Given the description of an element on the screen output the (x, y) to click on. 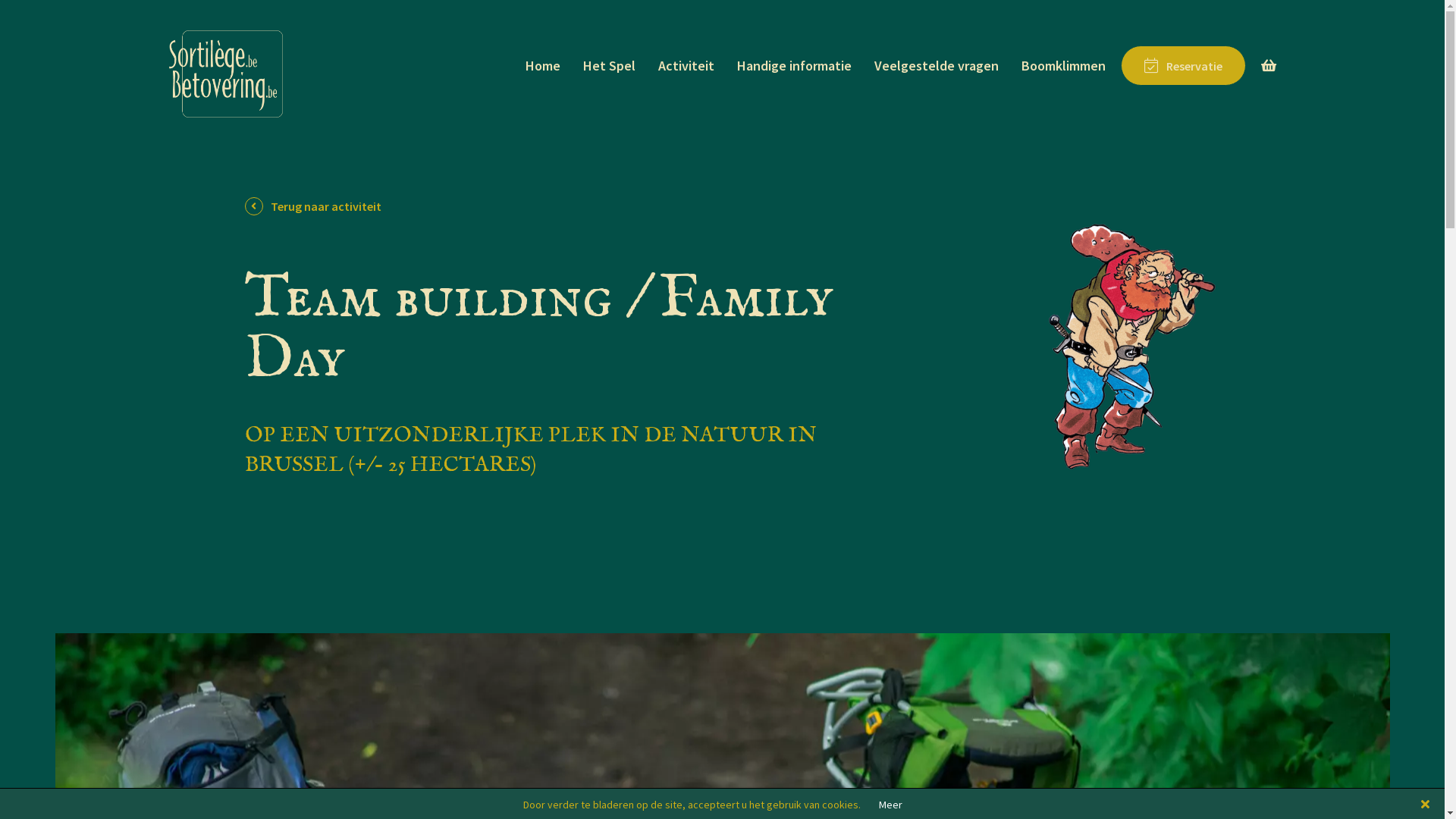
Boomklimmen Element type: text (1062, 65)
Home Element type: text (541, 65)
Reservatie Element type: text (1182, 65)
Veelgestelde vragen Element type: text (935, 65)
Bekijk je winkelwagen Element type: hover (1267, 65)
Activiteit Element type: text (686, 65)
Meer Element type: text (889, 804)
Handige informatie Element type: text (794, 65)
Terug naar activiteit Element type: text (324, 206)
Het Spel Element type: text (608, 65)
sortilege_personnage_2 Element type: hover (1131, 346)
logo_sortilege Element type: hover (225, 73)
